Given the description of an element on the screen output the (x, y) to click on. 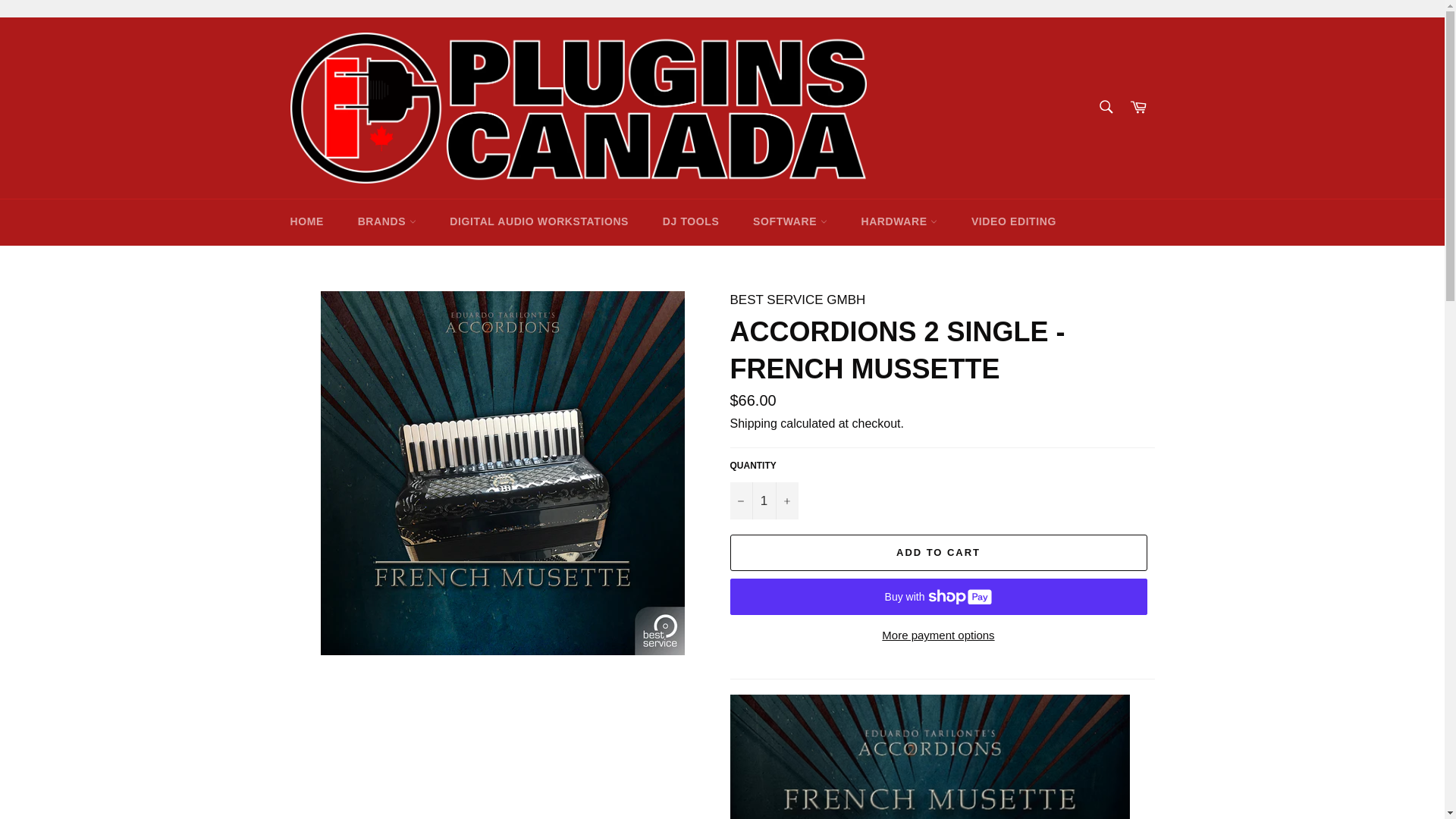
1 (763, 500)
